Given the description of an element on the screen output the (x, y) to click on. 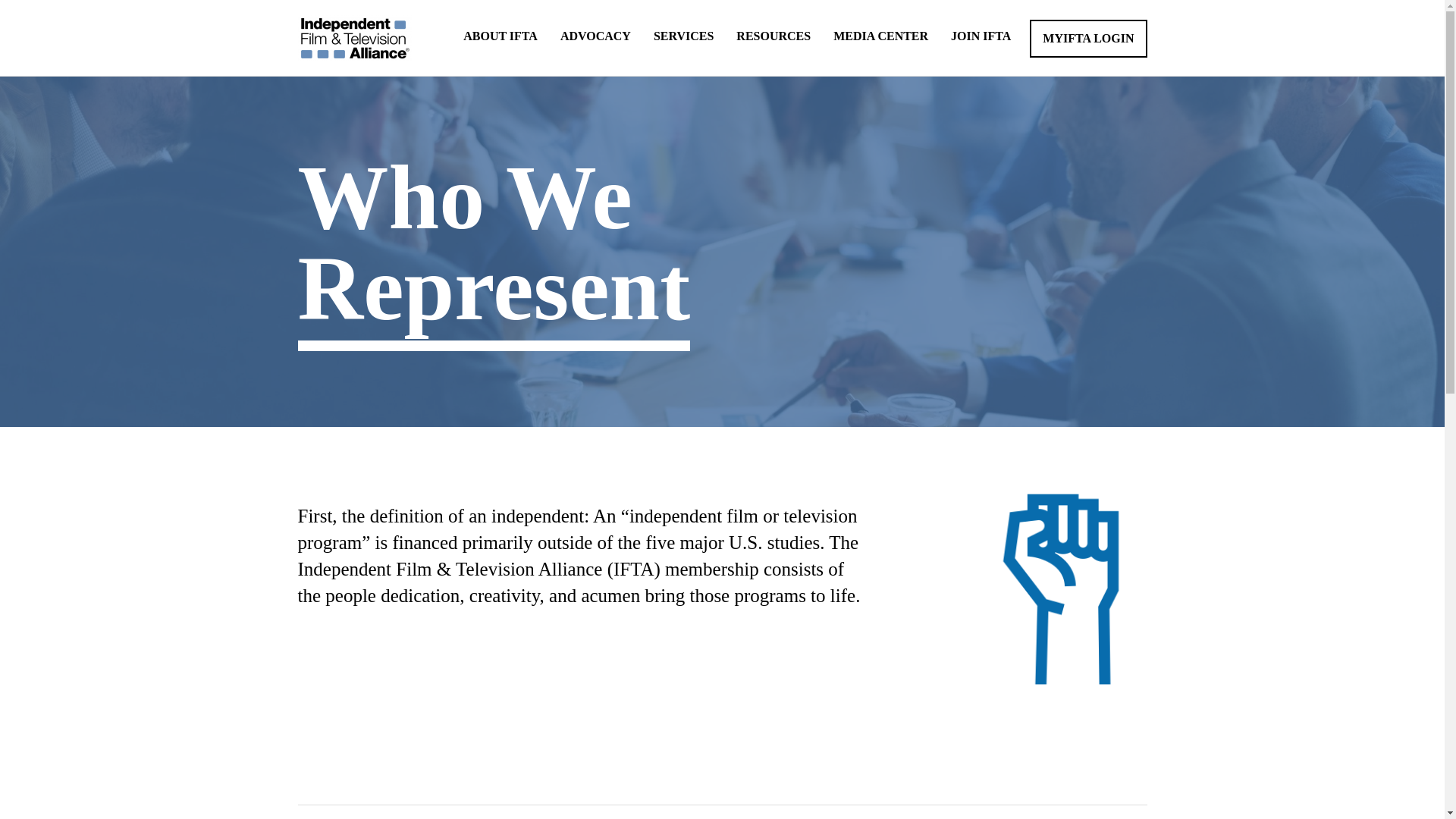
ABOUT IFTA (499, 36)
ADVOCACY (595, 36)
